Given the description of an element on the screen output the (x, y) to click on. 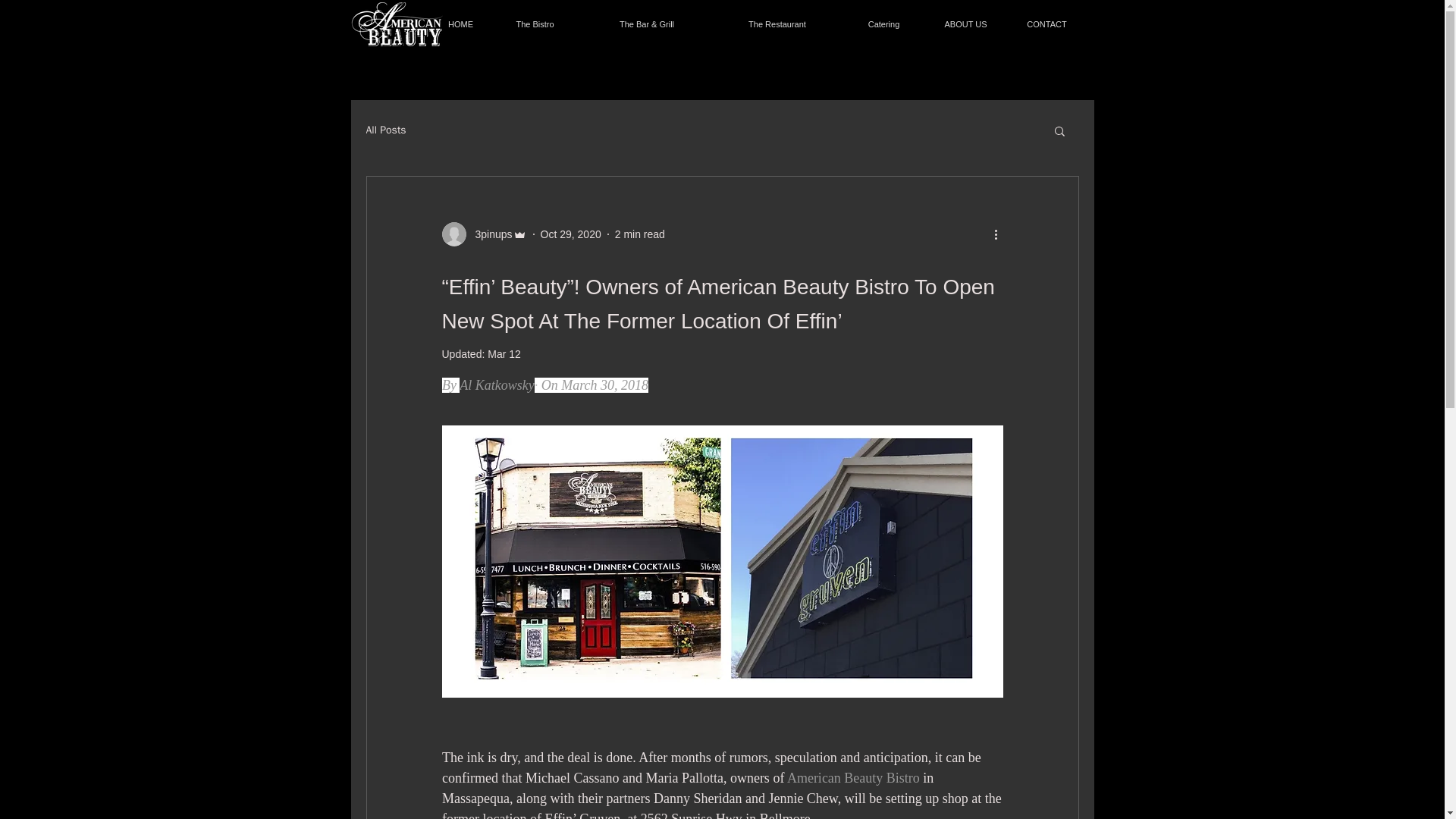
Catering (883, 24)
Mar 12 (504, 354)
The Bistro (534, 24)
ABOUT US (965, 24)
Al Katkowsky (497, 385)
American Beauty Bistro (852, 777)
3pinups (483, 233)
Oct 29, 2020 (570, 233)
HOME (459, 24)
The Restaurant (777, 24)
CONTACT (1046, 24)
All Posts (385, 130)
3pinups (488, 233)
2 min read (639, 233)
